Given the description of an element on the screen output the (x, y) to click on. 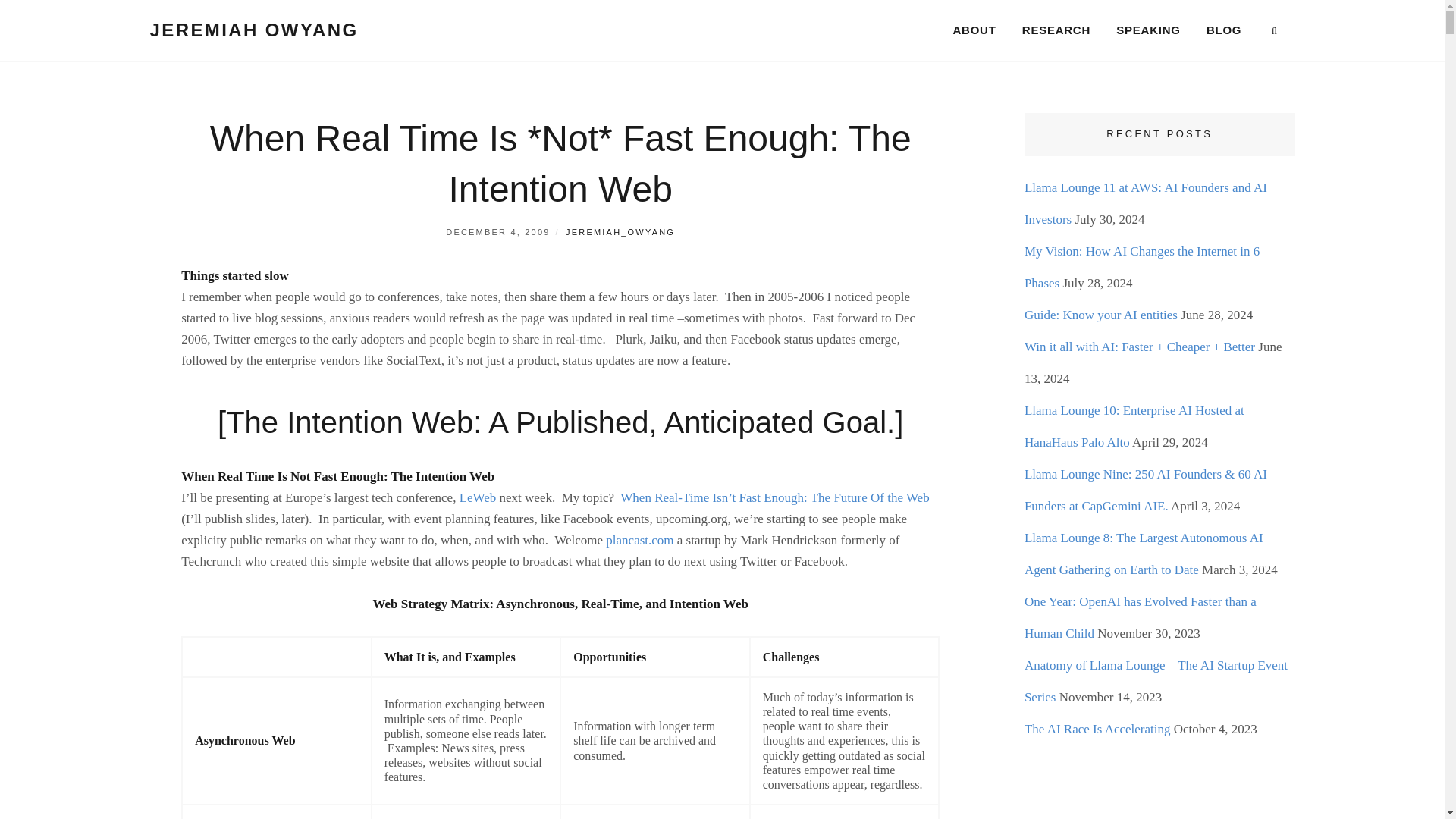
plancast.com (638, 540)
RESEARCH (1056, 29)
SPEAKING (1148, 29)
SEARCH (1274, 31)
ABOUT (974, 29)
JEREMIAH OWYANG (253, 29)
BLOG (1223, 29)
LeWeb (478, 497)
